Given the description of an element on the screen output the (x, y) to click on. 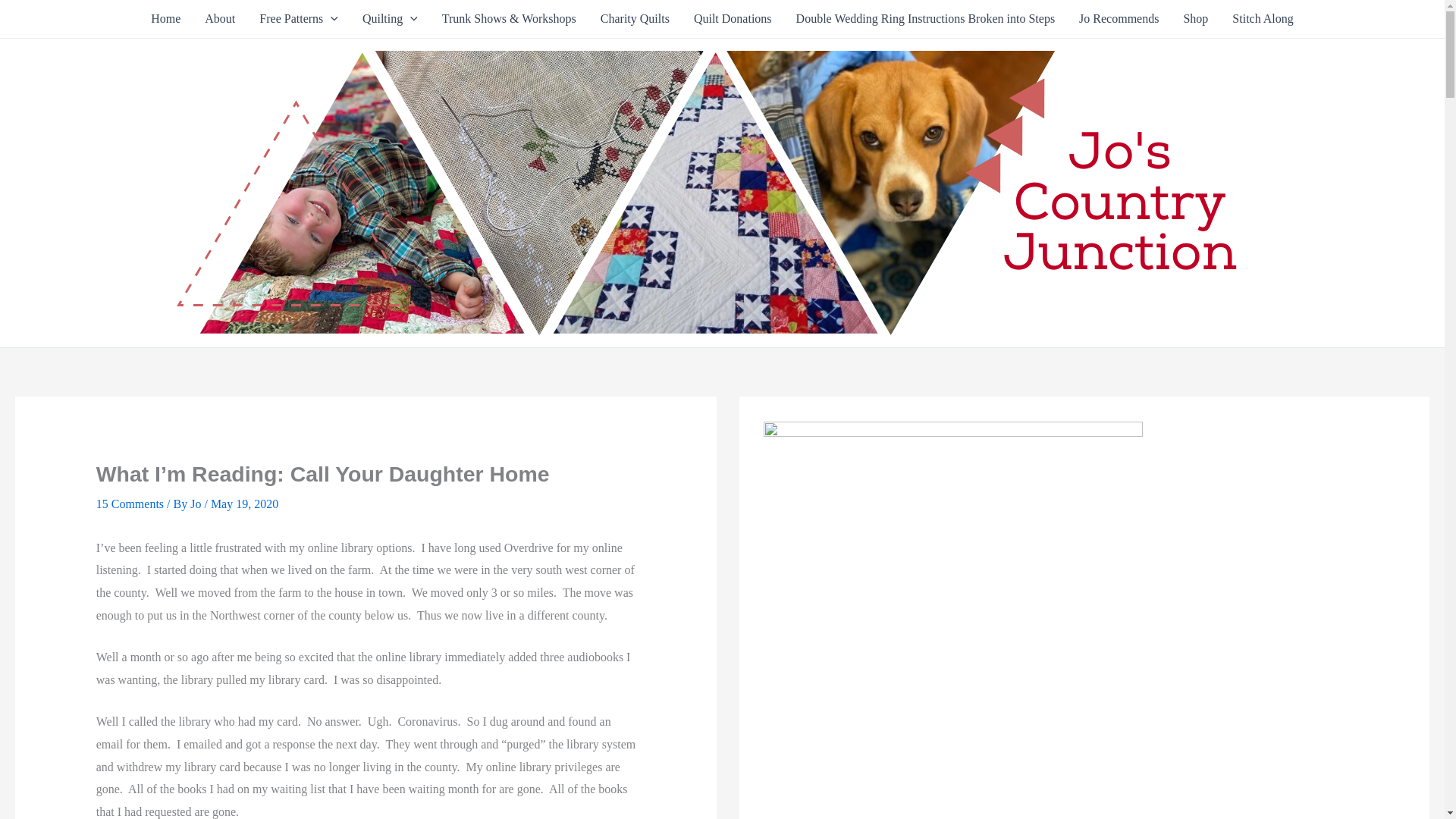
About (219, 18)
Home (165, 18)
Free Patterns (298, 18)
Charity Quilts (634, 18)
Quilt Donations (732, 18)
Quilting (389, 18)
Quilts of 2012 (389, 18)
View all posts by Jo (196, 503)
